Given the description of an element on the screen output the (x, y) to click on. 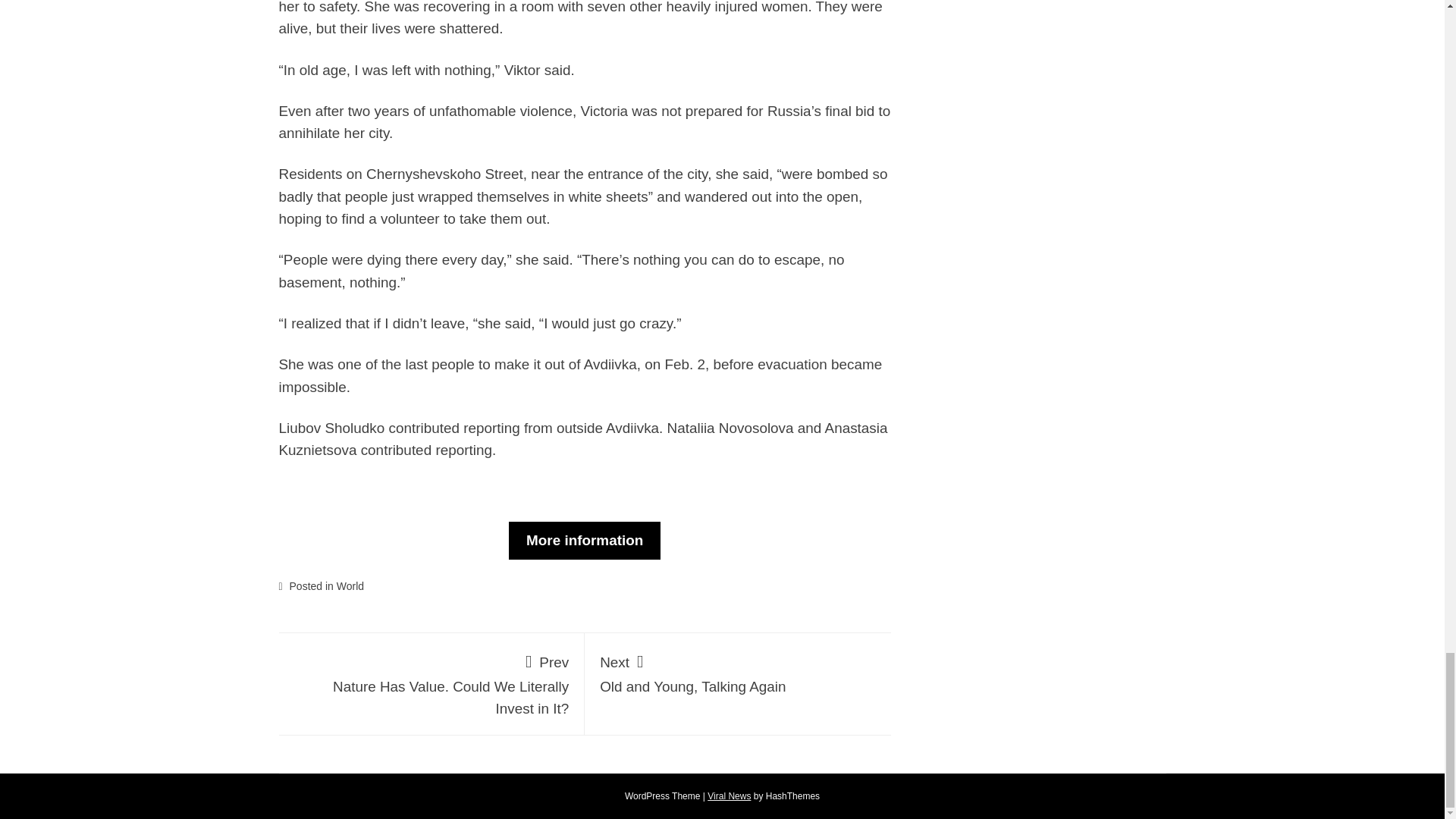
World (350, 585)
Viral News (737, 670)
More information (729, 796)
